Given the description of an element on the screen output the (x, y) to click on. 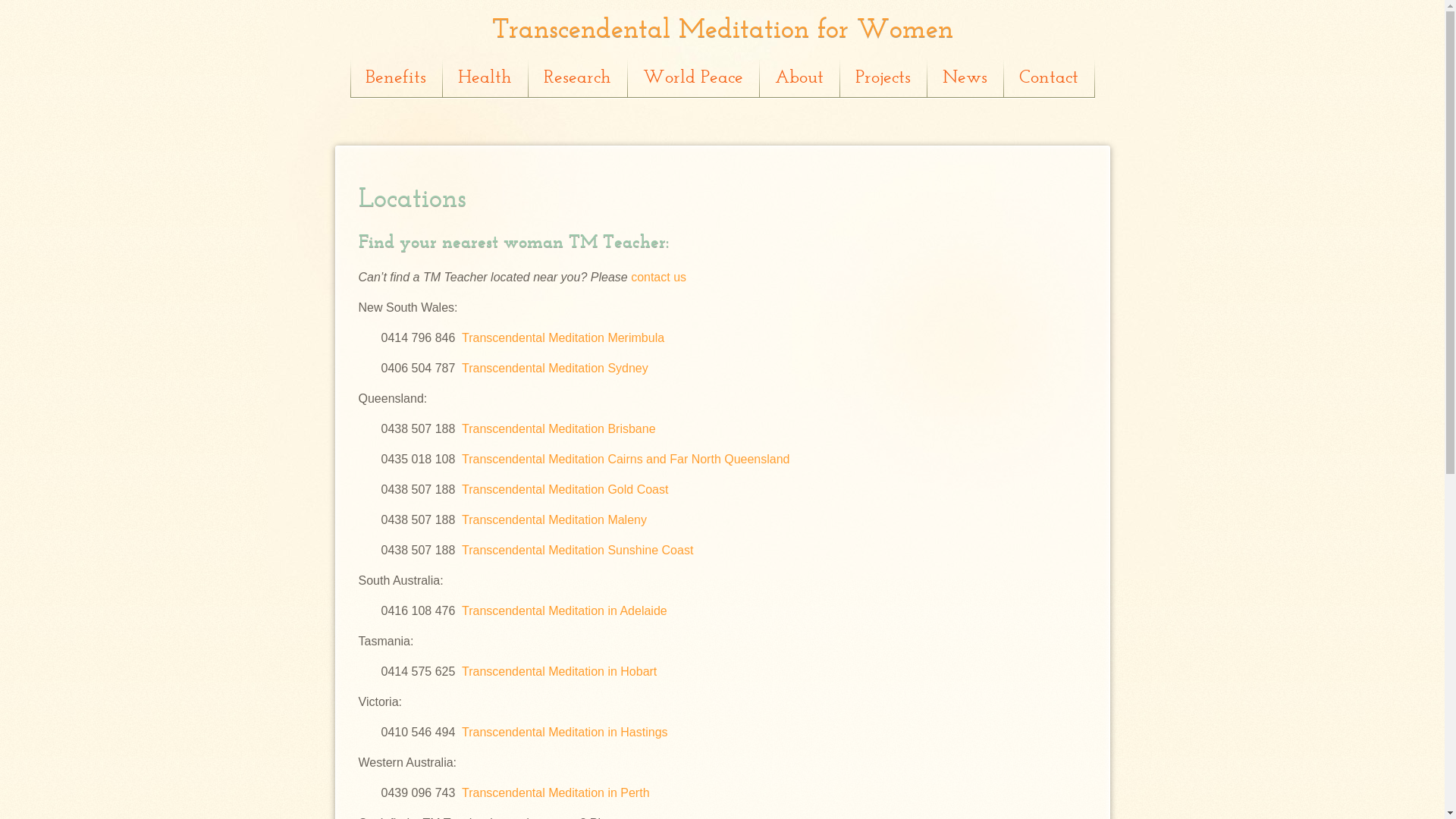
Transcendental Meditation in Hastings Element type: text (564, 731)
About Element type: text (799, 78)
World Peace Element type: text (693, 78)
Transcendental Meditation Gold Coast Element type: text (564, 489)
Transcendental Meditation Maleny Element type: text (553, 519)
Contact Element type: text (1049, 78)
Projects Element type: text (883, 78)
Transcendental Meditation in Hobart Element type: text (558, 671)
Health Element type: text (485, 78)
Transcendental Meditation Cairns and Far North Queensland Element type: text (625, 458)
Transcendental Meditation for Women Element type: text (721, 29)
Transcendental Meditation in Adelaide Element type: text (564, 610)
Benefits Element type: text (396, 78)
Transcendental Meditation Merimbula Element type: text (562, 337)
contact us Element type: text (658, 276)
Transcendental Meditation in Perth Element type: text (555, 792)
News Element type: text (964, 78)
Transcendental Meditation Sydney Element type: text (554, 367)
Skip to content Element type: text (408, 78)
Research Element type: text (577, 78)
Transcendental Meditation Brisbane  Element type: text (559, 428)
Transcendental Meditation Sunshine Coast Element type: text (577, 549)
